Given the description of an element on the screen output the (x, y) to click on. 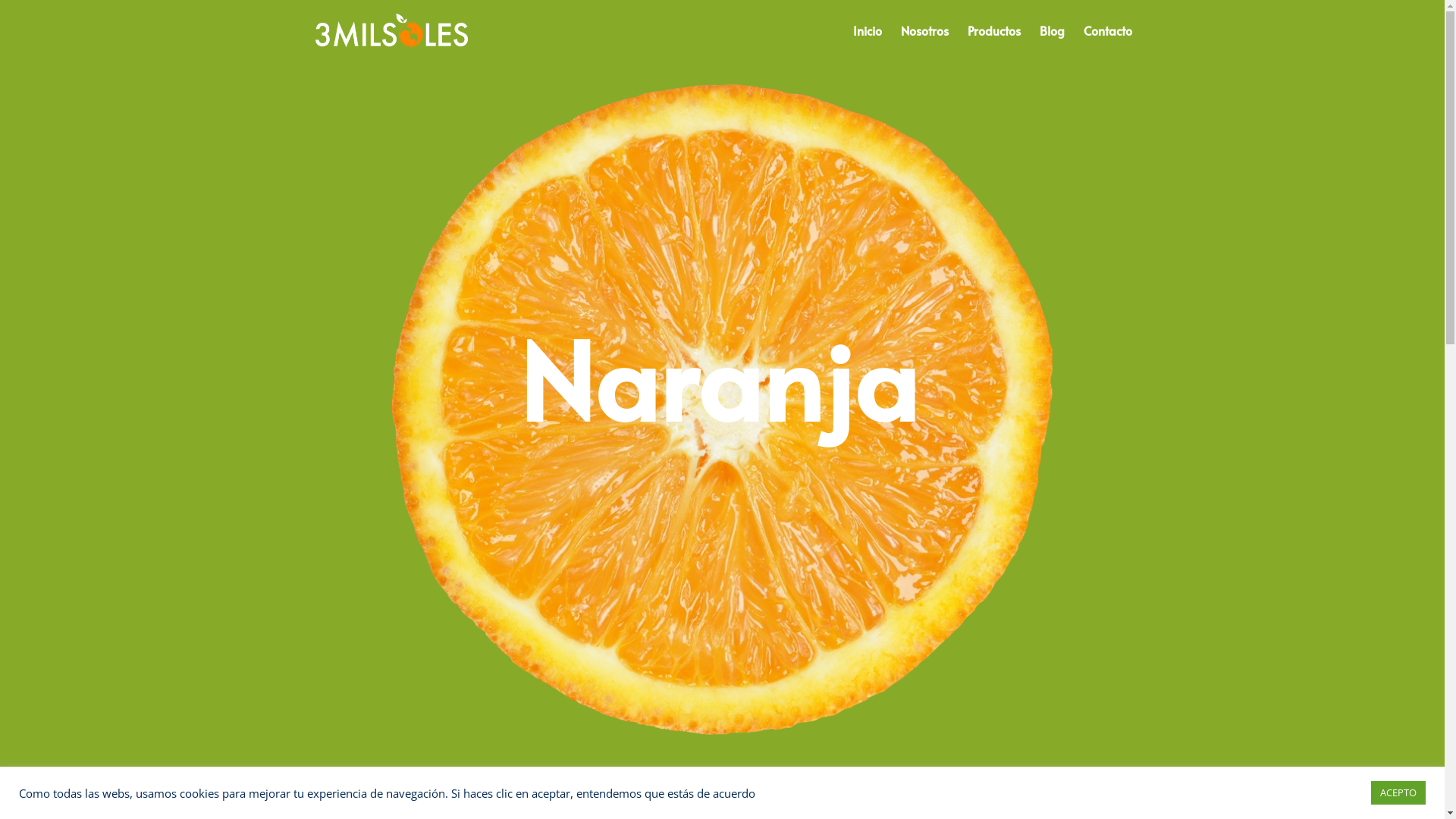
Contacto Element type: text (1106, 42)
Inicio Element type: text (866, 42)
Productos Element type: text (993, 42)
" Element type: text (722, 790)
Blog Element type: text (1050, 42)
Nosotros Element type: text (924, 42)
ACEPTO Element type: text (1398, 792)
